Given the description of an element on the screen output the (x, y) to click on. 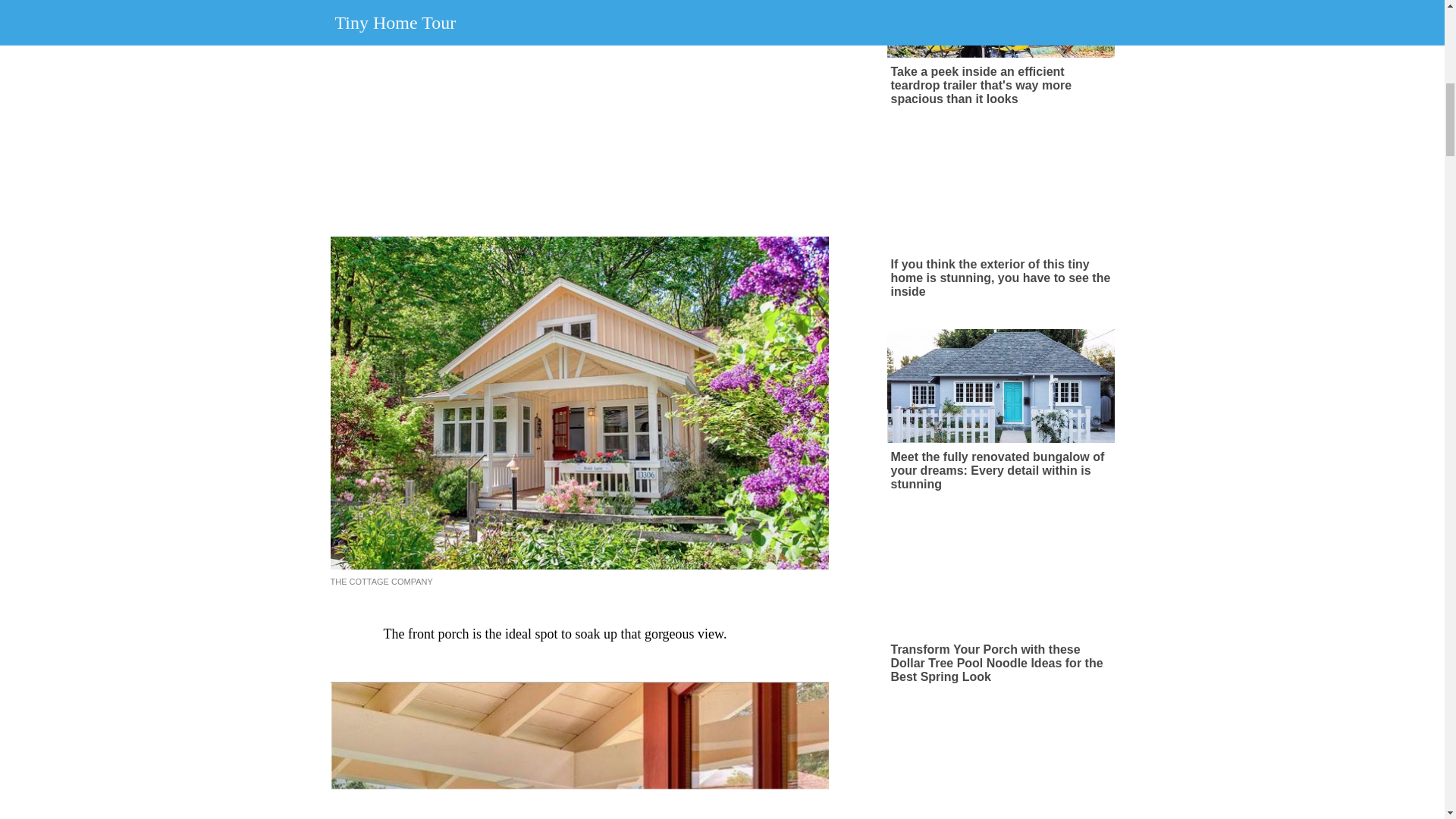
Terms of Use (711, 62)
Privacy Policy (784, 62)
Do Not Sell My Info (871, 62)
THE COTTAGE COMPANY (381, 581)
About Ads (646, 62)
